Given the description of an element on the screen output the (x, y) to click on. 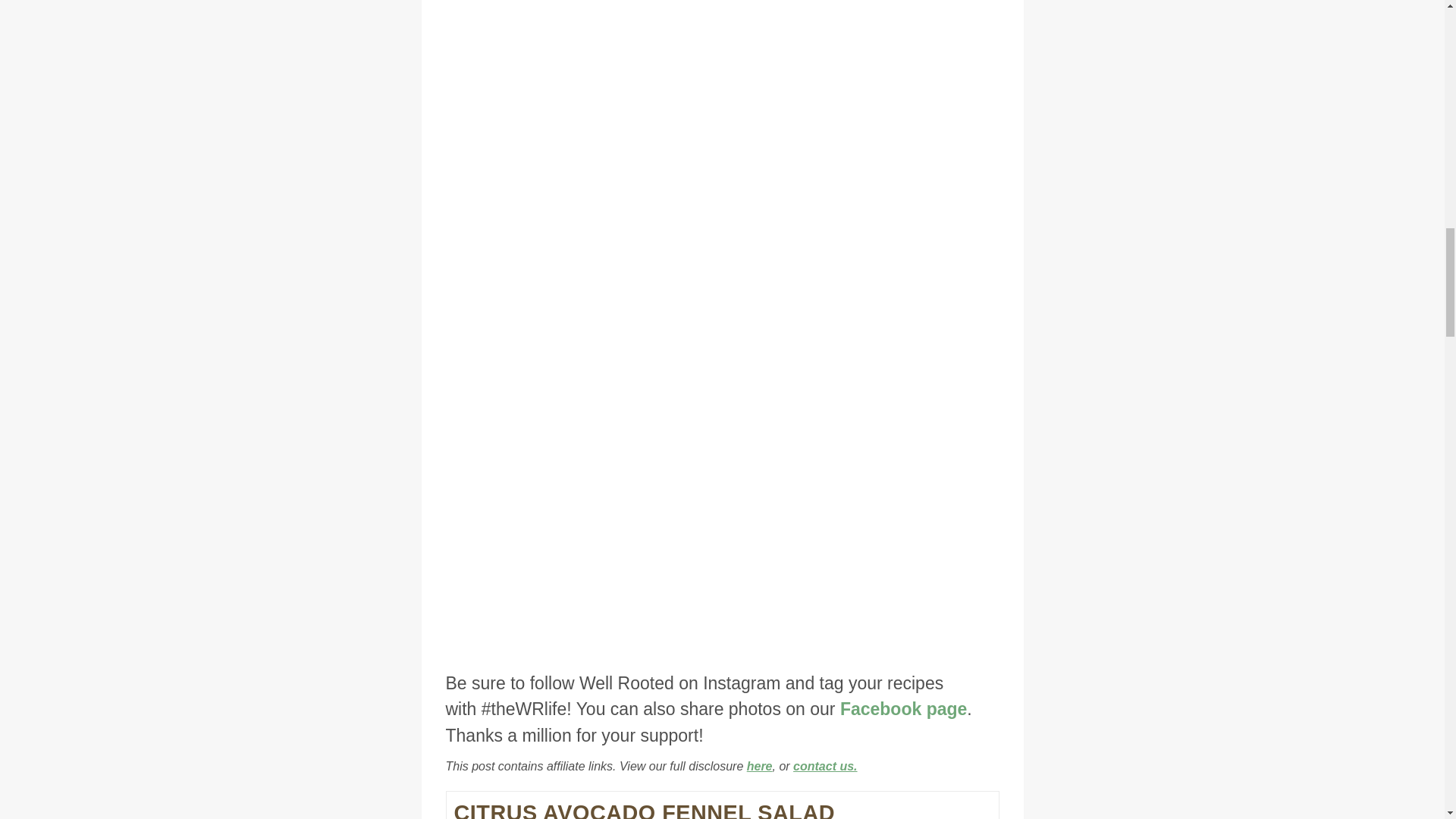
here (759, 766)
contact us. (825, 766)
Facebook page (903, 709)
